Given the description of an element on the screen output the (x, y) to click on. 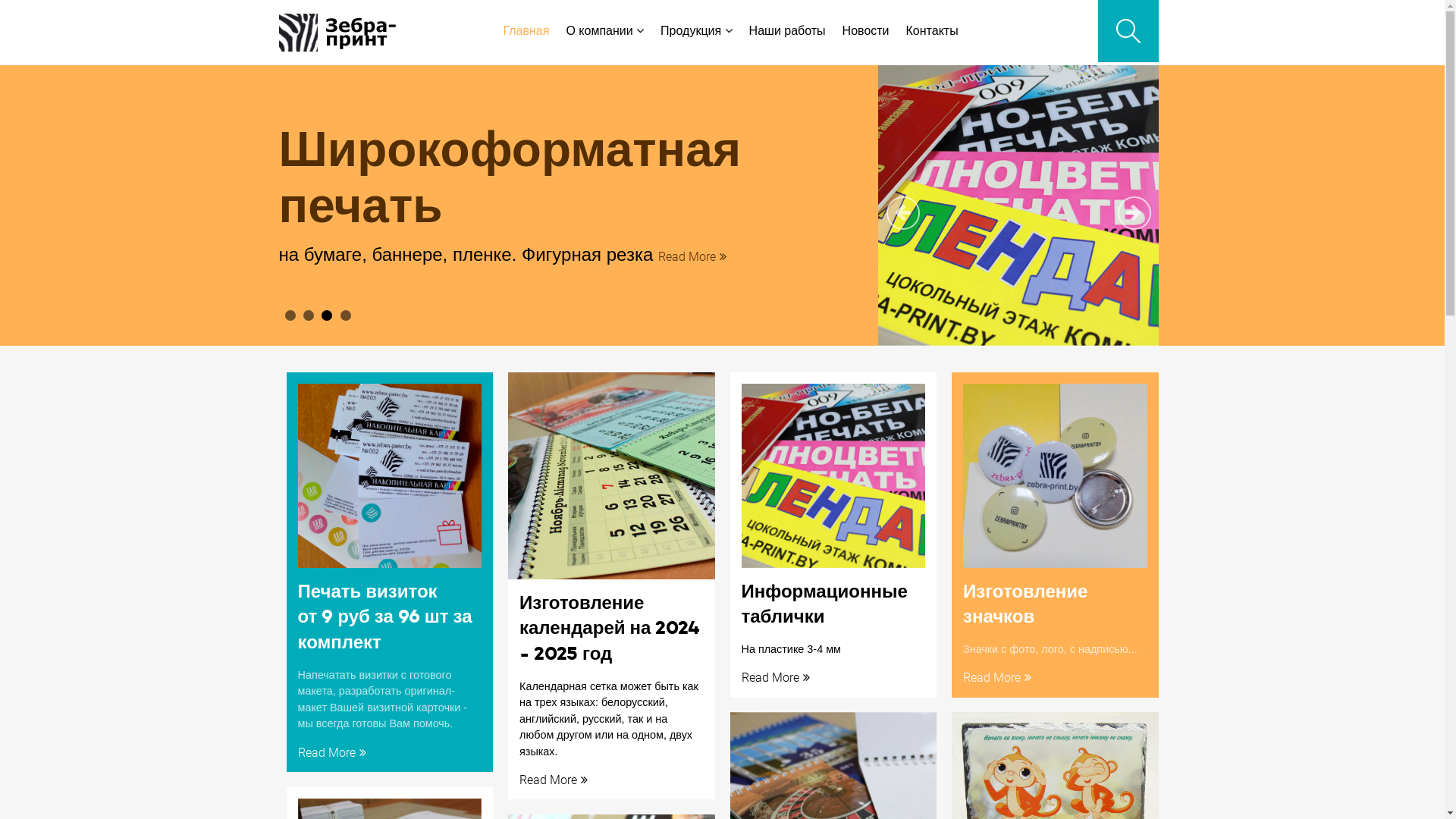
Read More Element type: text (525, 255)
Read More Element type: text (777, 676)
Read More Element type: text (999, 676)
Read More Element type: text (555, 779)
Read More Element type: text (333, 751)
